Given the description of an element on the screen output the (x, y) to click on. 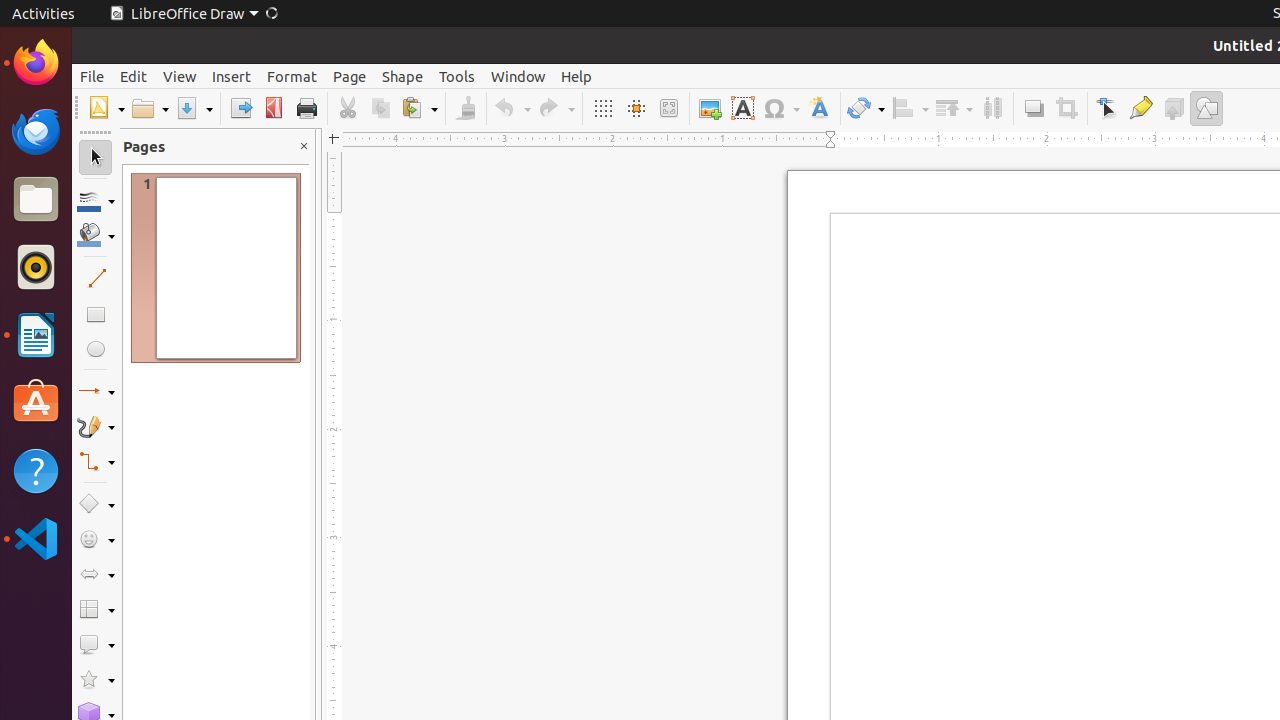
Helplines While Moving Element type: toggle-button (635, 108)
Glue Points Element type: push-button (1140, 108)
Rectangle Element type: push-button (95, 313)
